Given the description of an element on the screen output the (x, y) to click on. 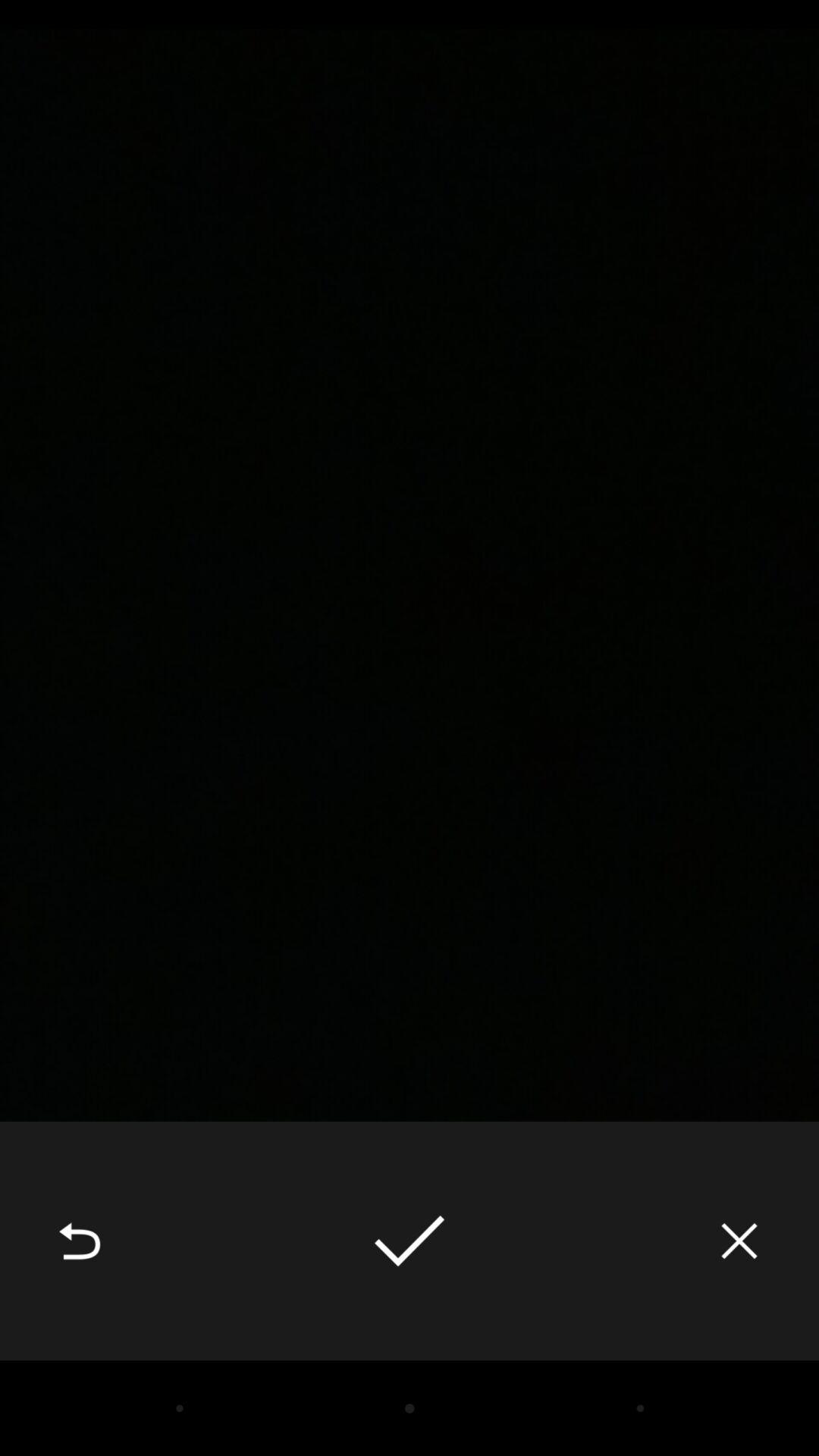
turn off icon at the bottom left corner (79, 1240)
